Given the description of an element on the screen output the (x, y) to click on. 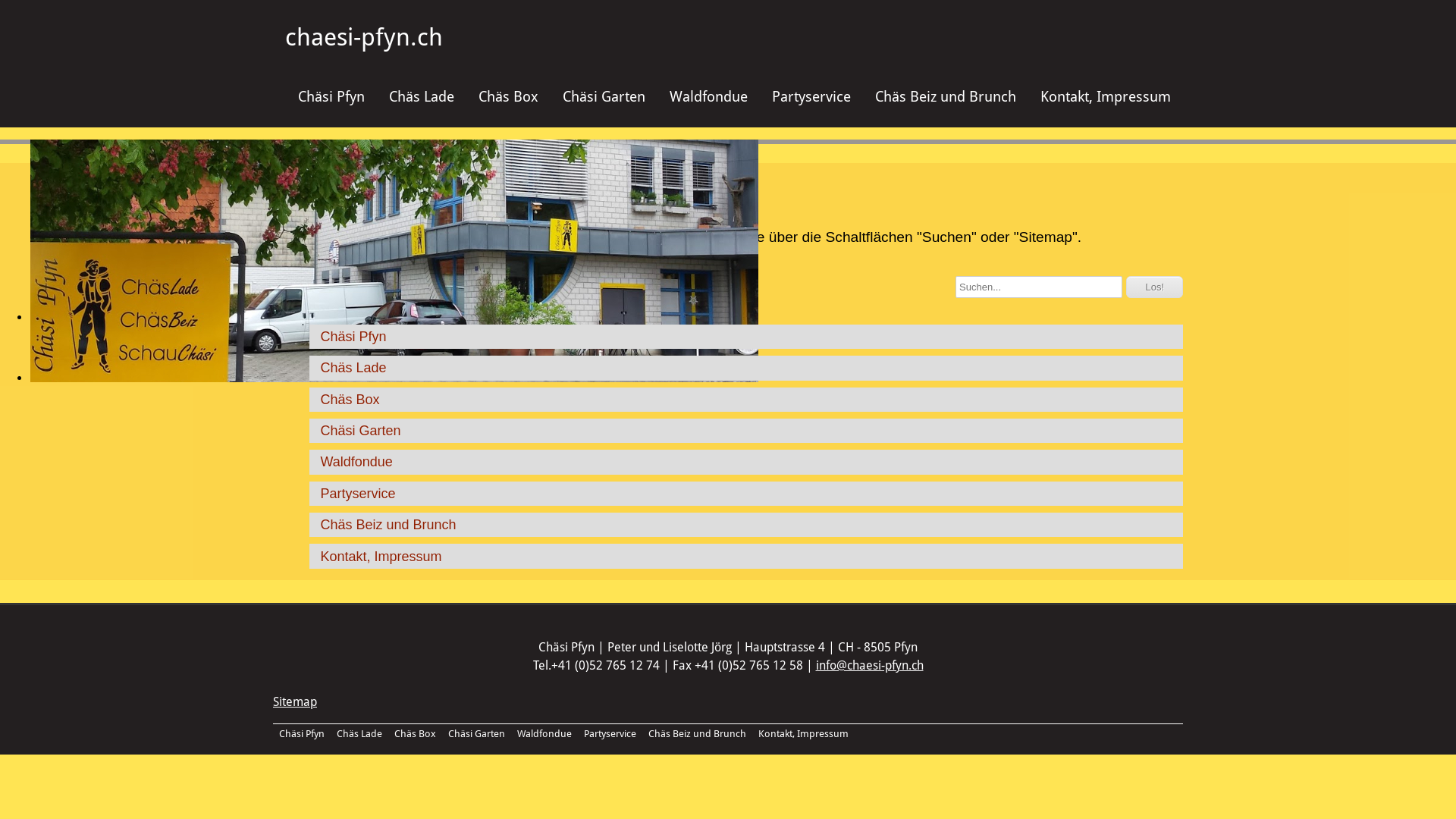
Los! Element type: text (1154, 287)
Kontakt, Impressum Element type: text (746, 555)
chaesi-pfyn.ch Element type: text (363, 36)
Sitemap Element type: text (294, 701)
Partyservice Element type: text (609, 733)
Partyservice Element type: text (746, 493)
Waldfondue Element type: text (746, 461)
Kontakt, Impressum Element type: text (1105, 97)
Partyservice Element type: text (810, 97)
Waldfondue Element type: text (544, 733)
Kontakt, Impressum Element type: text (803, 733)
Waldfondue Element type: text (708, 97)
info@chaesi-pfyn.ch Element type: text (869, 665)
